Given the description of an element on the screen output the (x, y) to click on. 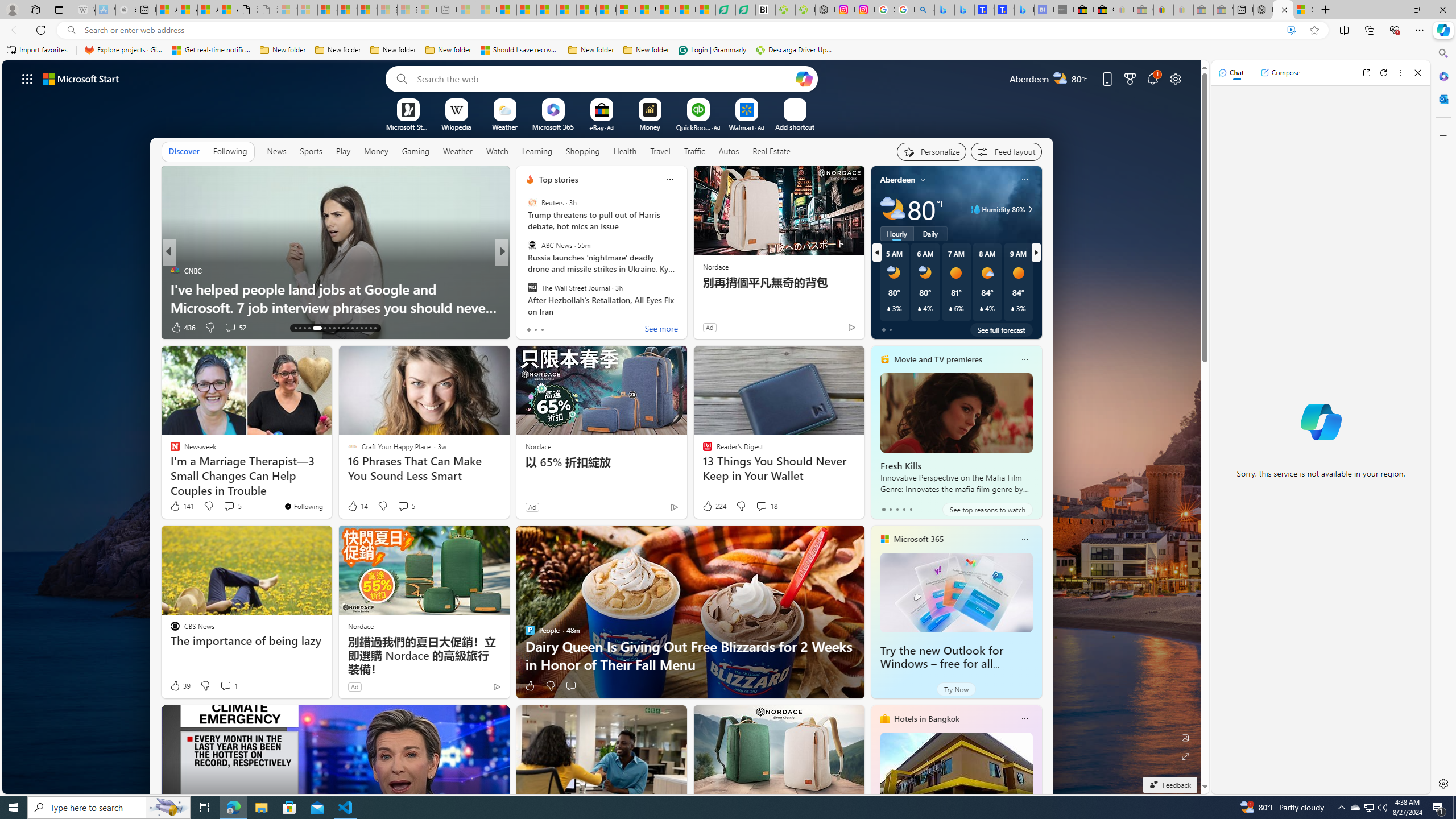
4 Like (529, 327)
View comments 52 Comment (229, 327)
Microsoft Bing Travel - Shangri-La Hotel Bangkok (1024, 9)
tab-3 (903, 509)
39 Like (179, 685)
Microsoft Bing Travel - Flights from Hong Kong to Bangkok (944, 9)
AutomationID: waffle (27, 78)
See full forecast (1000, 329)
